Given the description of an element on the screen output the (x, y) to click on. 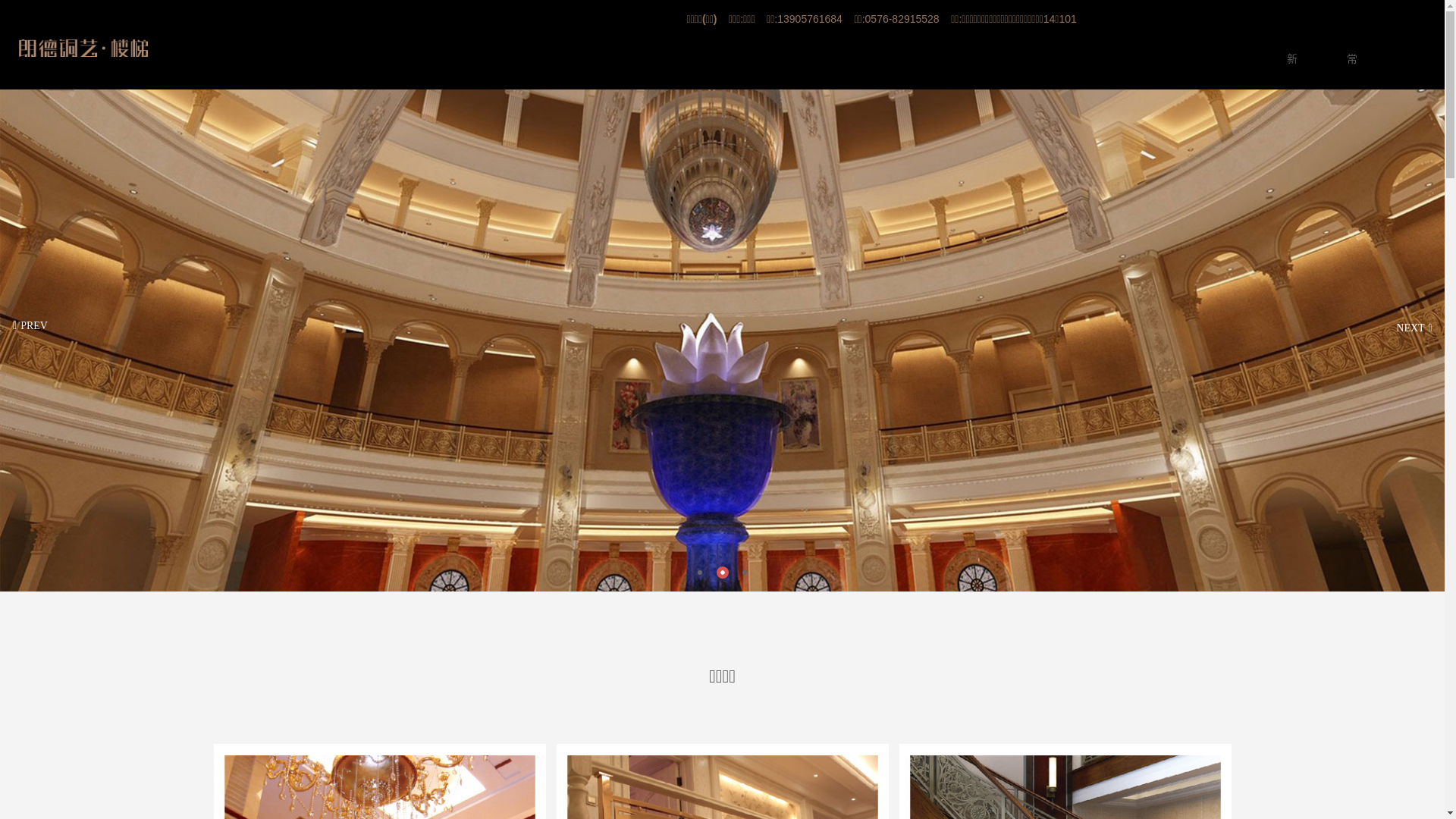
PREV Element type: text (30, 325)
NEXT Element type: text (1413, 325)
